Given the description of an element on the screen output the (x, y) to click on. 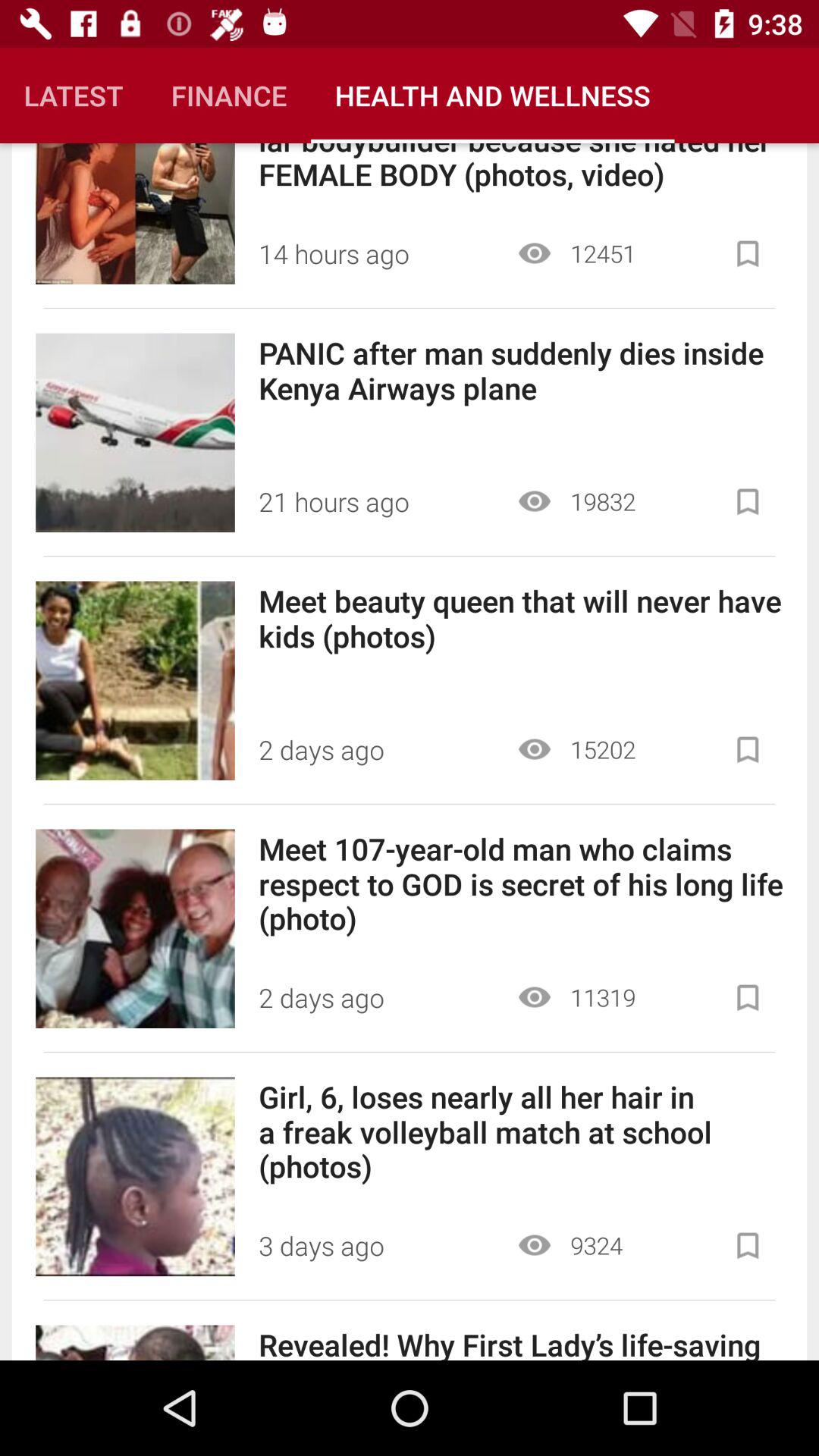
bookmark this (747, 997)
